Given the description of an element on the screen output the (x, y) to click on. 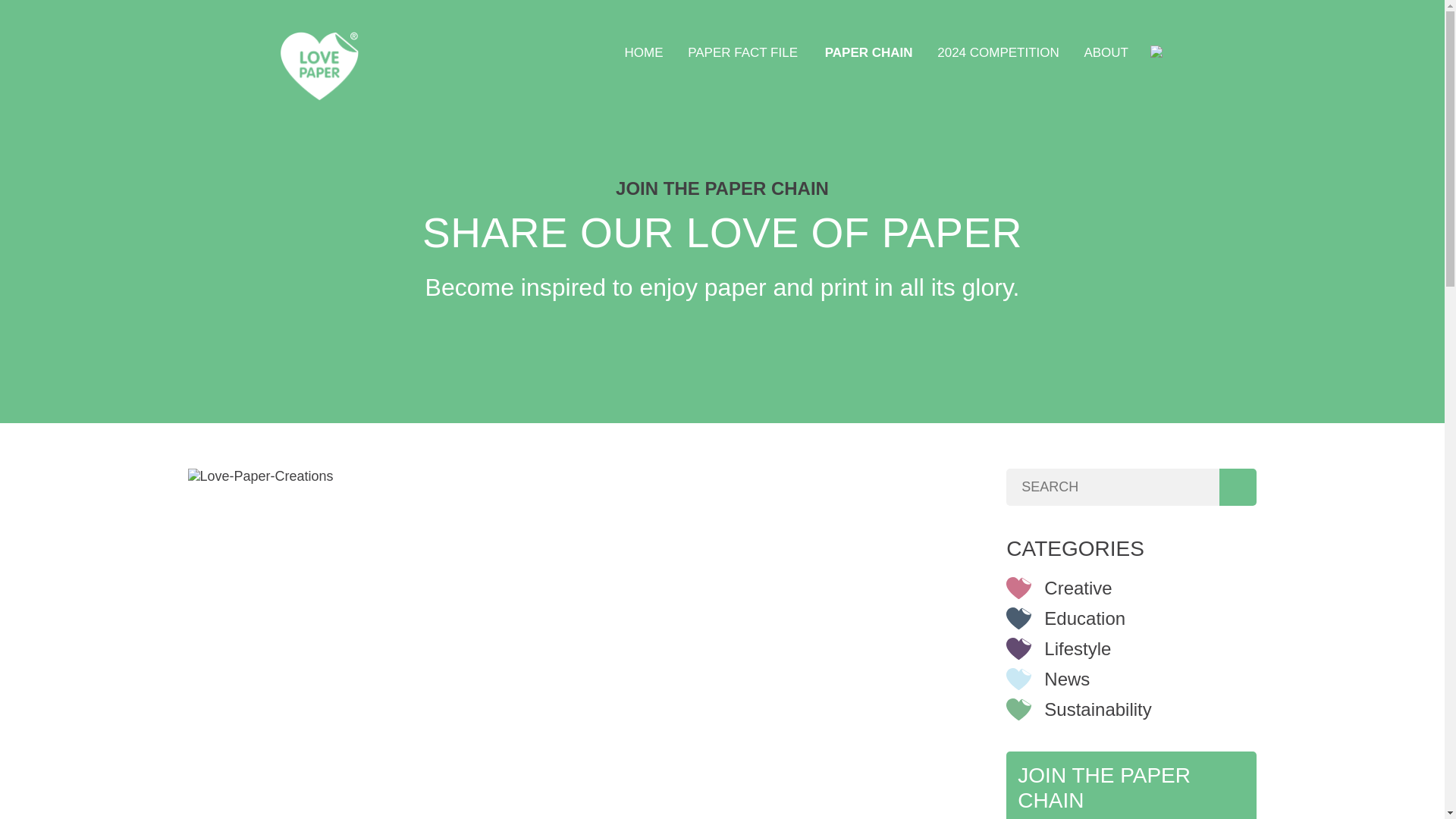
Paper Chain (868, 52)
Home (643, 52)
PAPER CHAIN (868, 52)
ABOUT (1106, 52)
Search (1238, 487)
PAPER FACT FILE (743, 52)
2024 COMPETITION (998, 52)
Search (1238, 487)
Paper Fact File (743, 52)
HOME (643, 52)
